Given the description of an element on the screen output the (x, y) to click on. 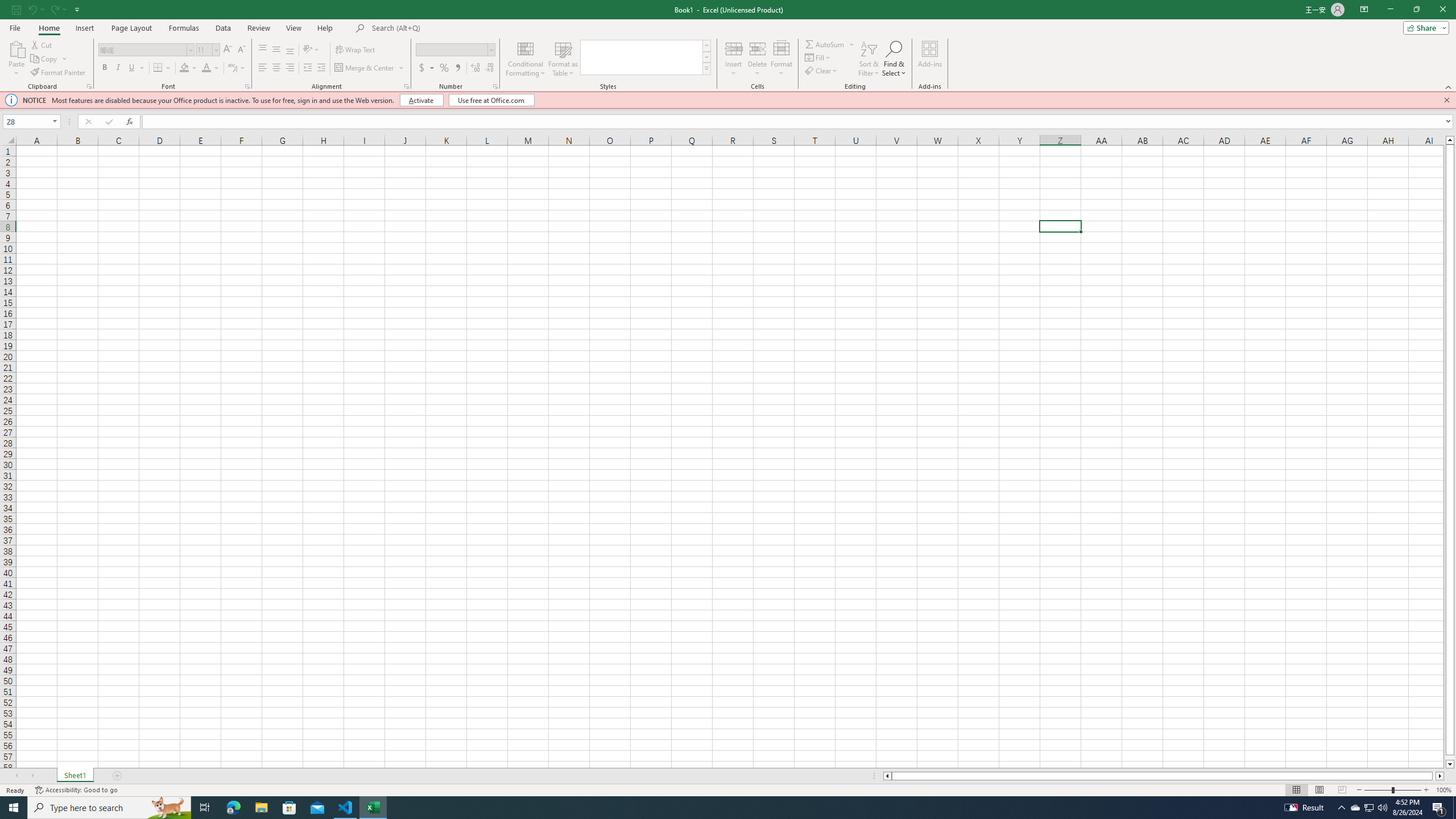
AutomationID: CellStylesGallery (645, 57)
